Given the description of an element on the screen output the (x, y) to click on. 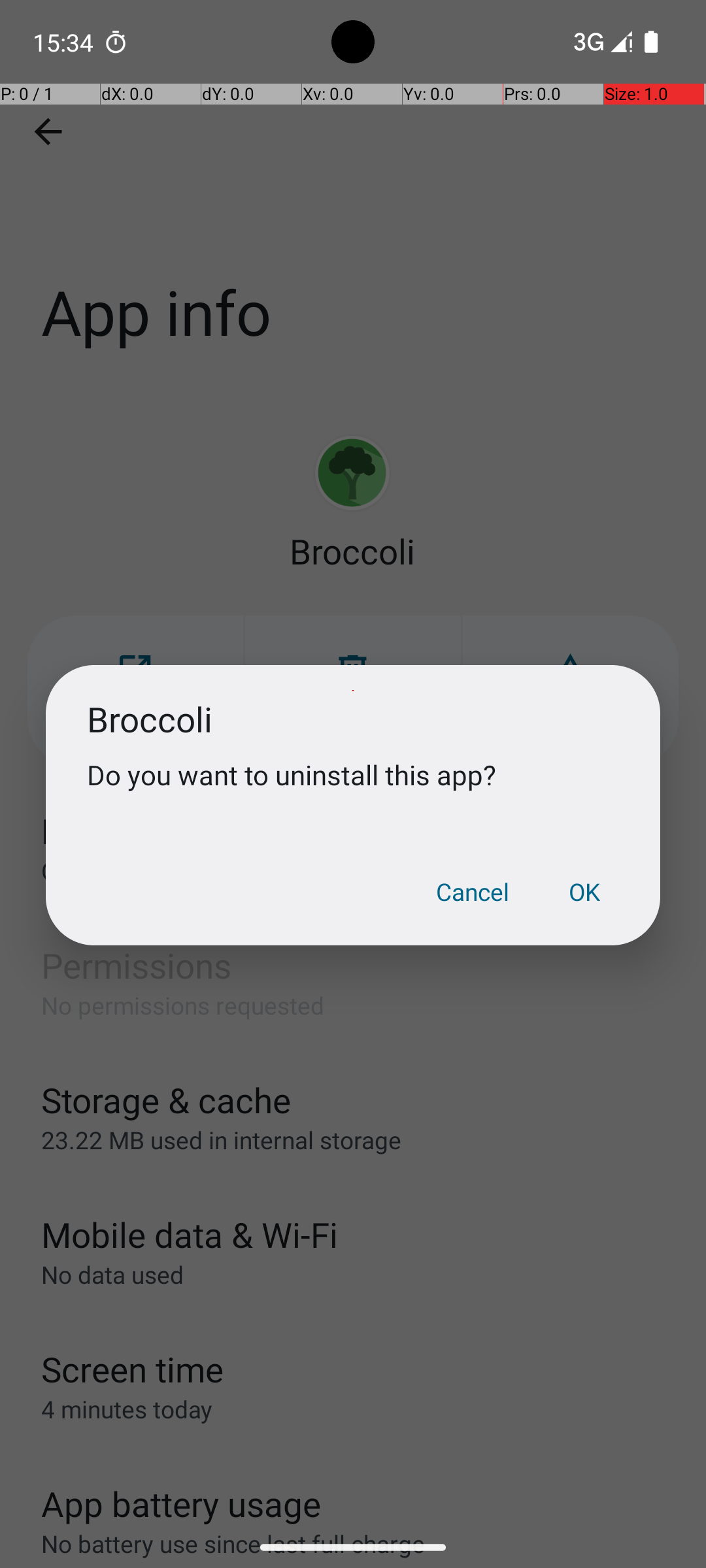
Do you want to uninstall this app? Element type: android.widget.TextView (352, 774)
